Given the description of an element on the screen output the (x, y) to click on. 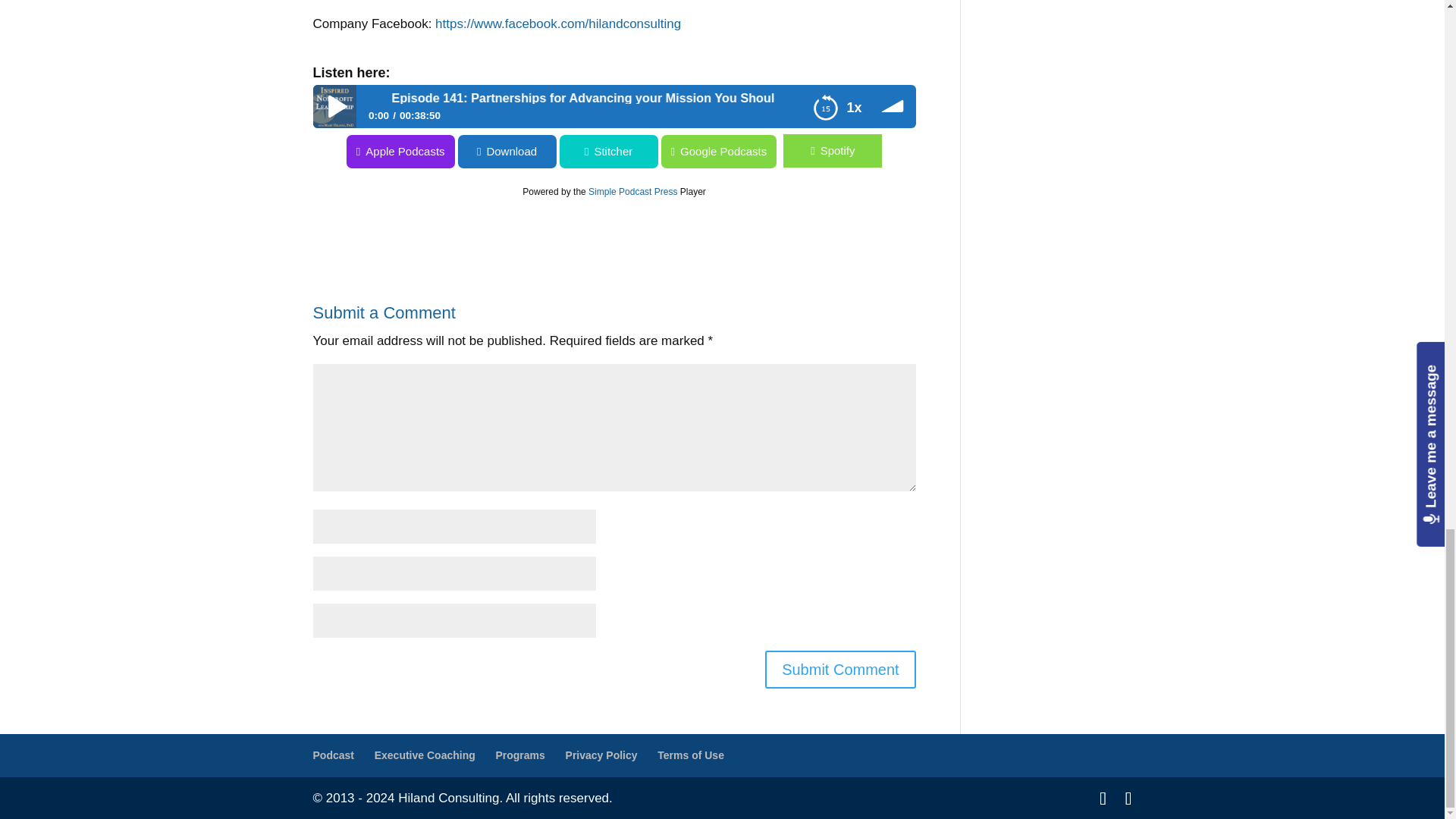
Submit Comment (840, 669)
